Given the description of an element on the screen output the (x, y) to click on. 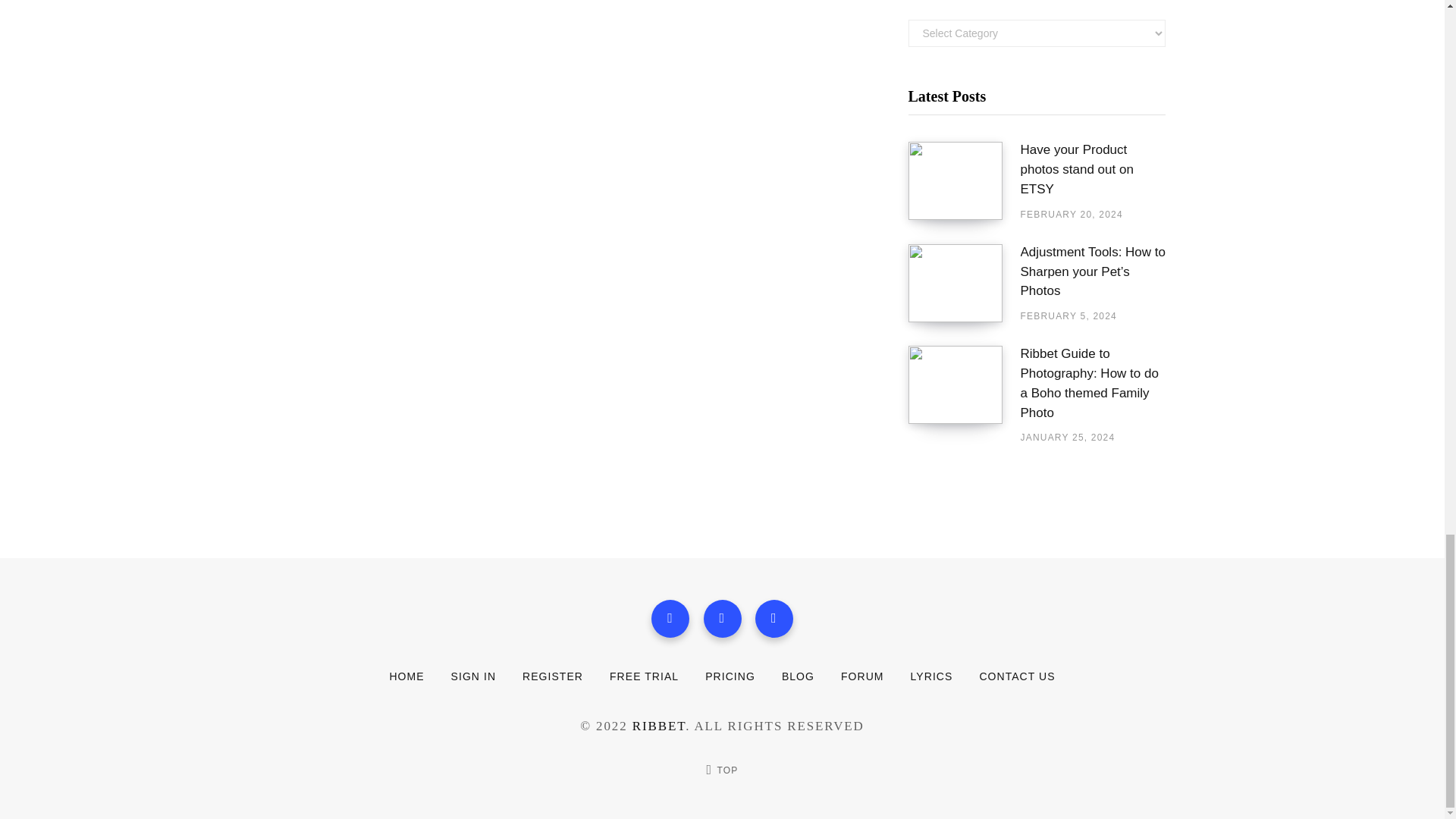
Have your Product photos stand out on ETSY (1093, 169)
Facebook (669, 618)
Instagram (774, 618)
